Given the description of an element on the screen output the (x, y) to click on. 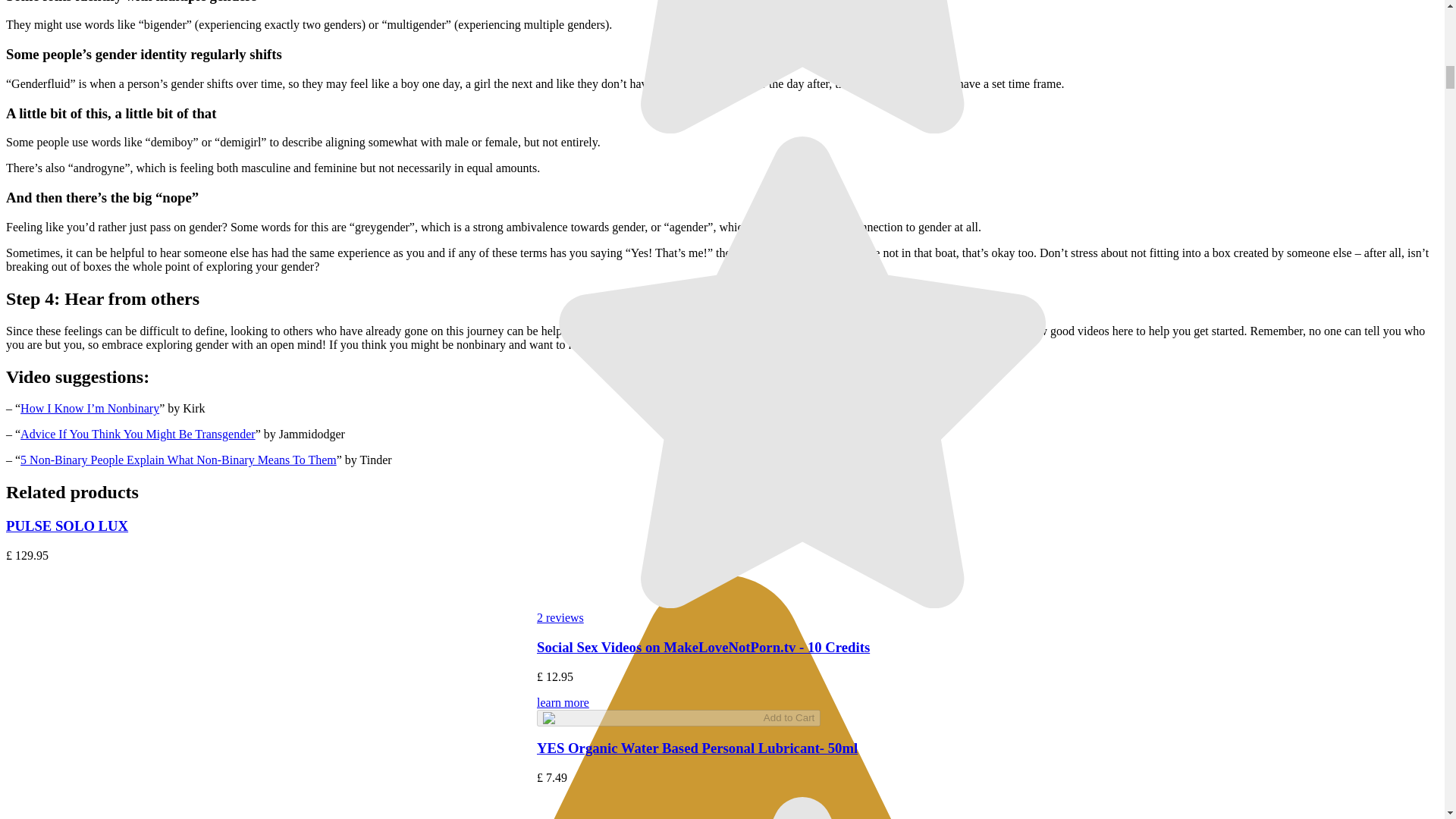
2 reviews (560, 617)
Add to Cart (679, 718)
learn more (802, 709)
Social Sex Videos on MakeLoveNotPorn.tv - 10 Credits (703, 647)
YES Organic Water Based Personal Lubricant- 50ml (697, 747)
